Given the description of an element on the screen output the (x, y) to click on. 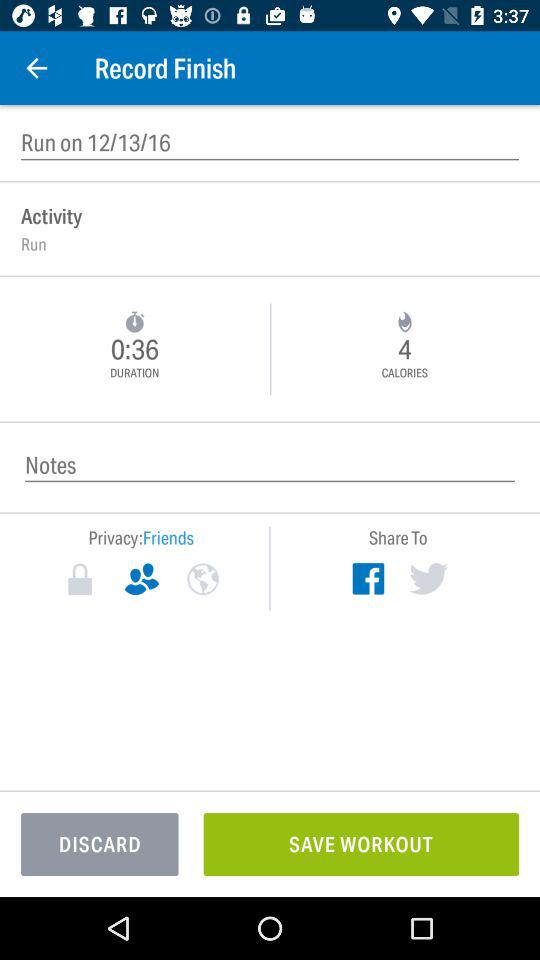
record any notes (269, 464)
